Given the description of an element on the screen output the (x, y) to click on. 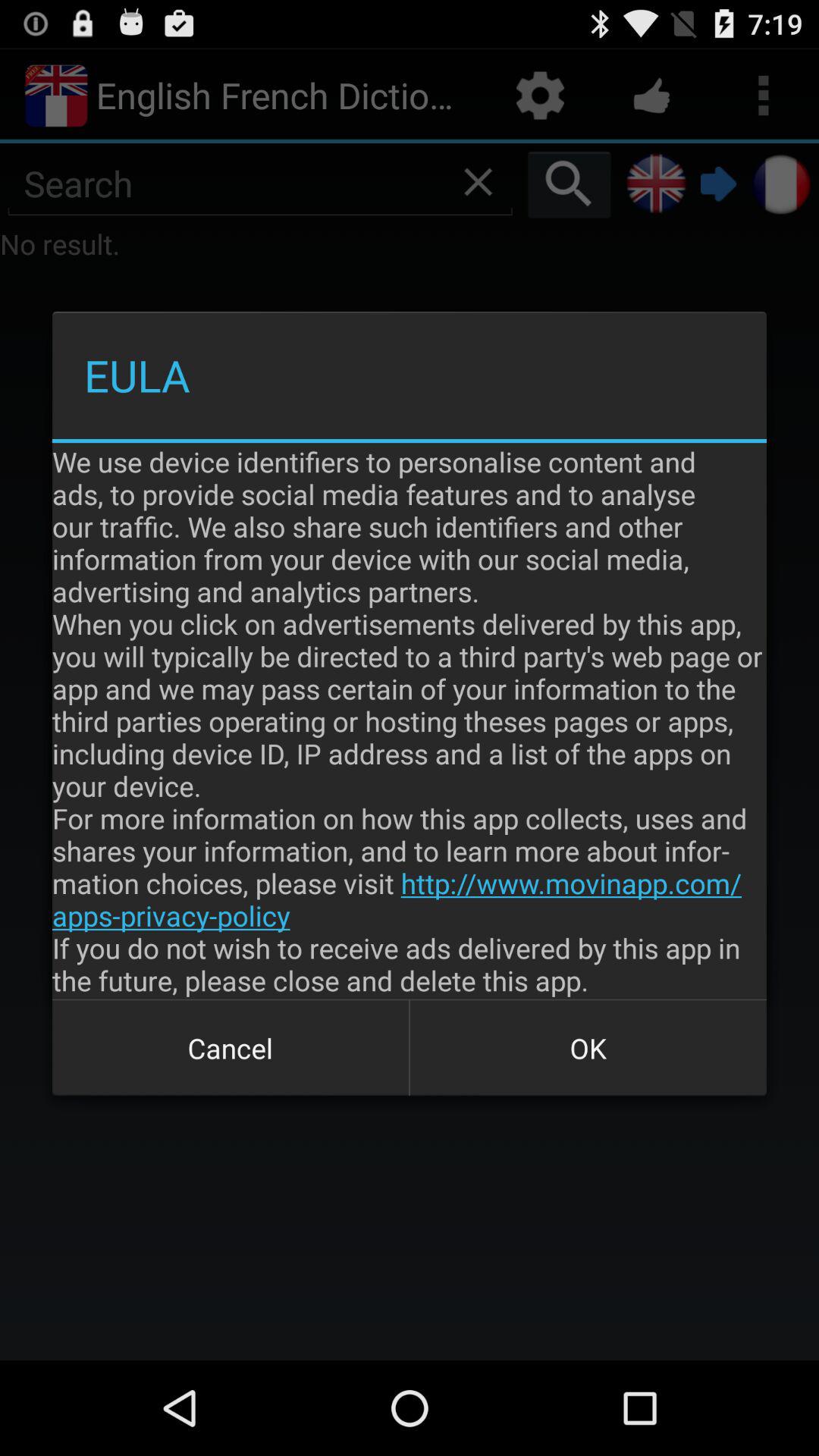
select the app below we use device item (230, 1047)
